Given the description of an element on the screen output the (x, y) to click on. 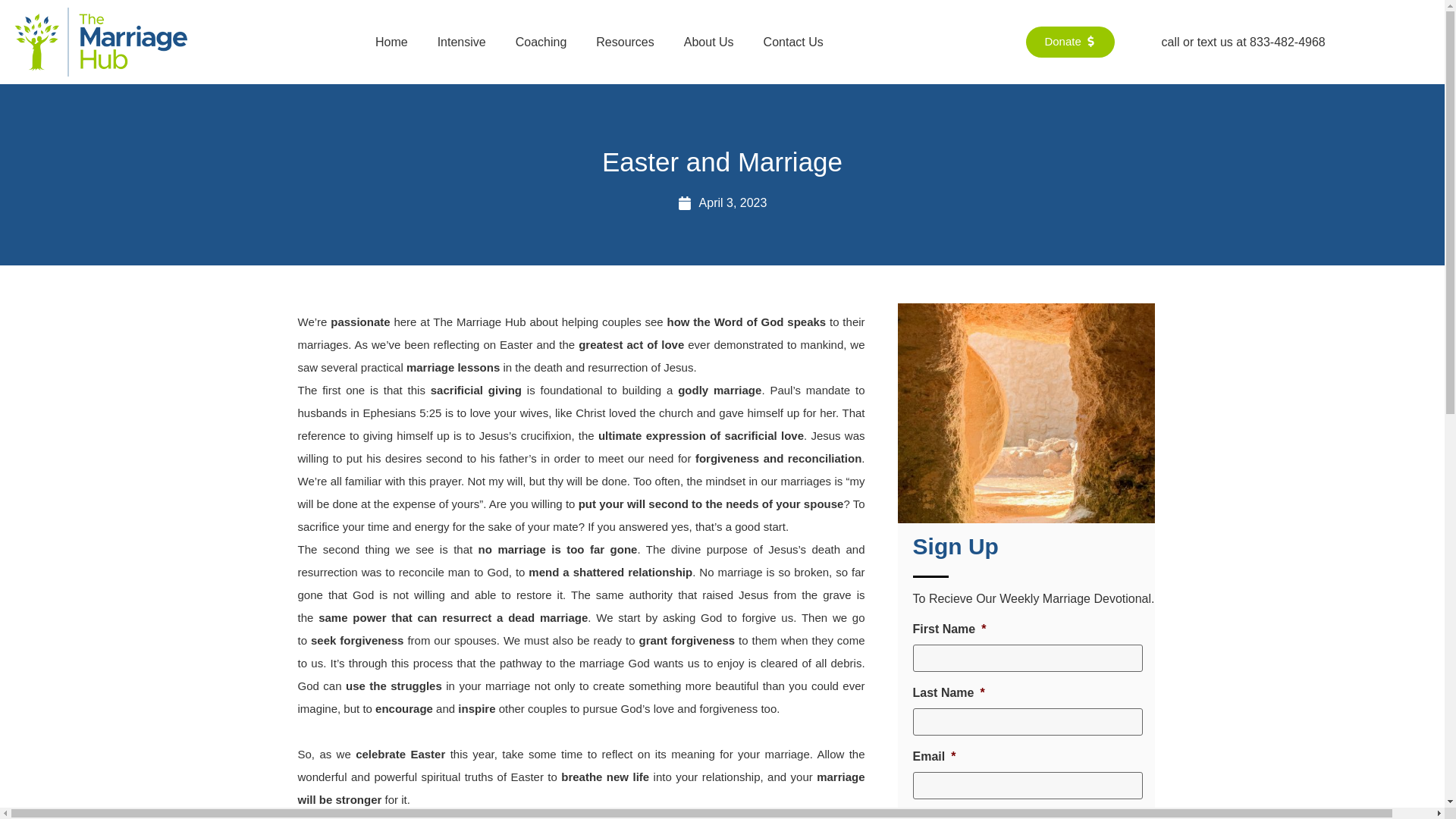
Coaching (541, 42)
Donate (1069, 41)
About Us (708, 42)
Home (391, 42)
Resources (624, 42)
Intensive (461, 42)
Contact Us (793, 42)
